Given the description of an element on the screen output the (x, y) to click on. 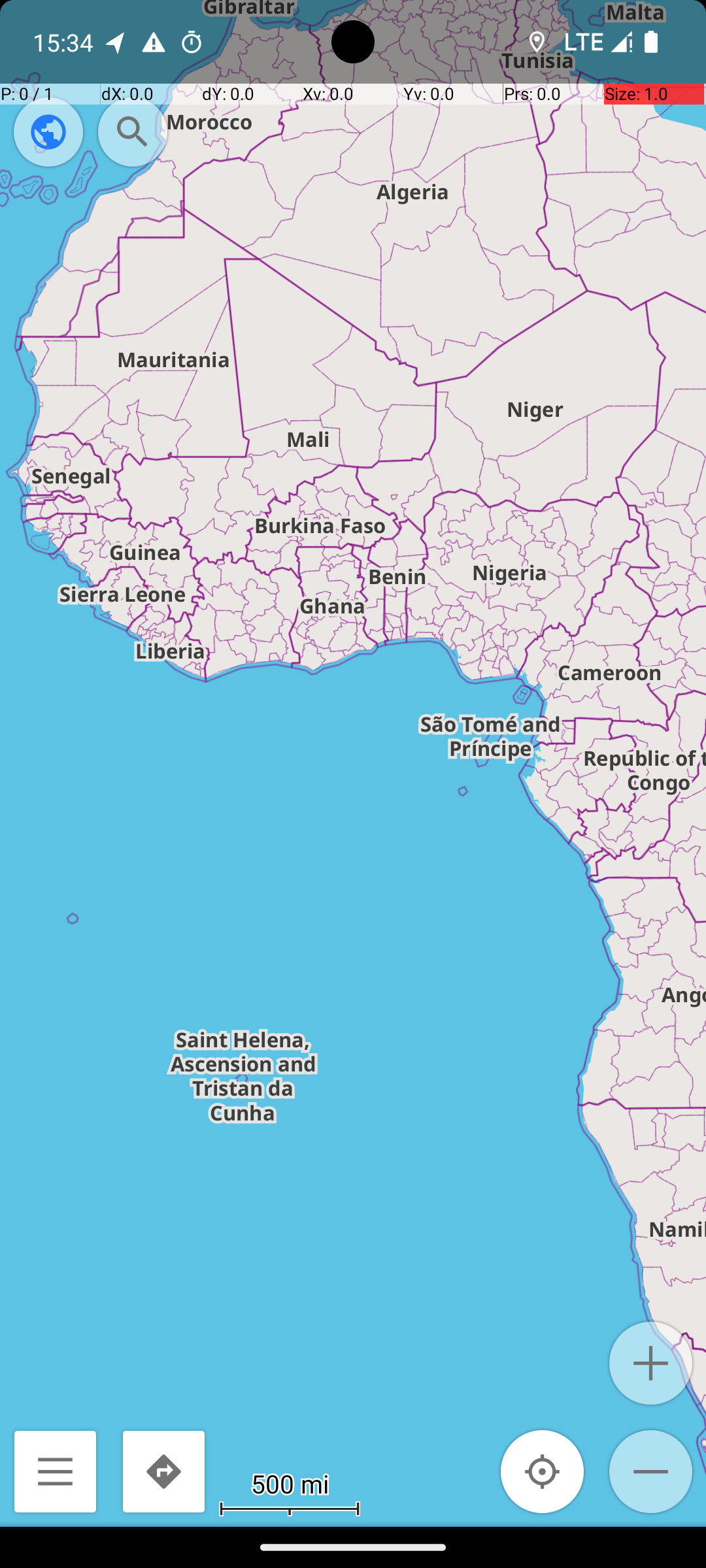
500 mi Element type: android.widget.TextView (289, 1483)
OpenTracks notification: Distance: 8.20 mi Element type: android.widget.ImageView (115, 41)
